Given the description of an element on the screen output the (x, y) to click on. 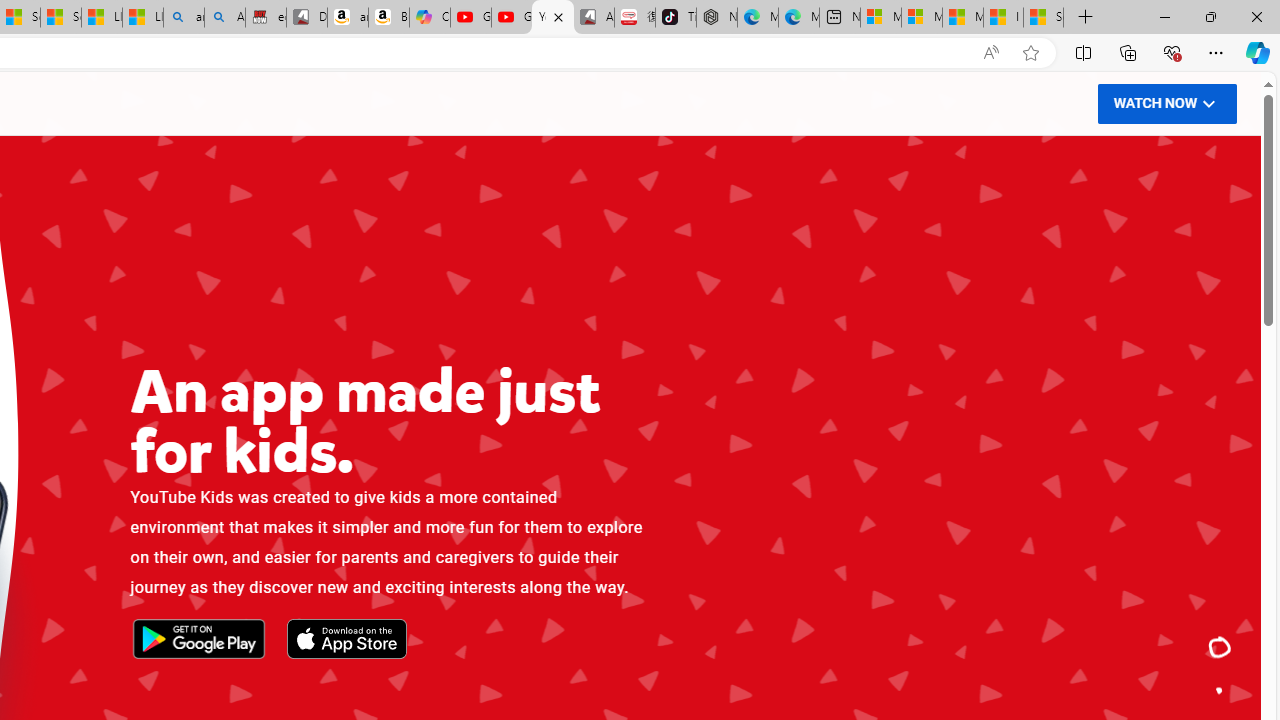
Class: ytk-dot-nav__circle (1219, 690)
amazon - Search (183, 17)
TikTok (675, 17)
Class: ytk__arrow-link-icon (1208, 102)
Microsoft account | Privacy (922, 17)
A safer online experience for kids. (1219, 690)
Get it on Google Play (198, 639)
Gloom - YouTube (511, 17)
